Given the description of an element on the screen output the (x, y) to click on. 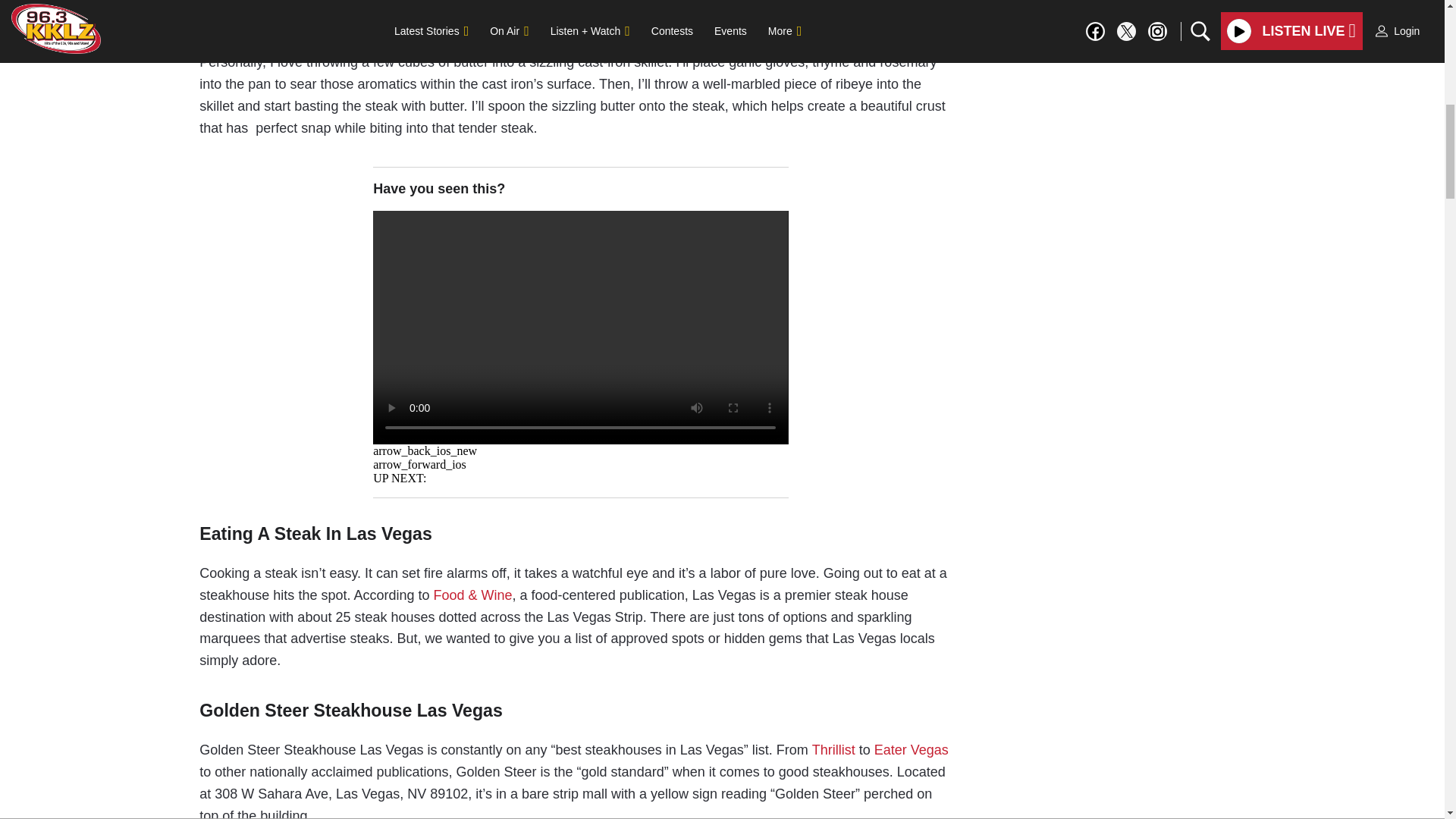
Close AdCheckmark indicating ad close (1434, 11)
